Given the description of an element on the screen output the (x, y) to click on. 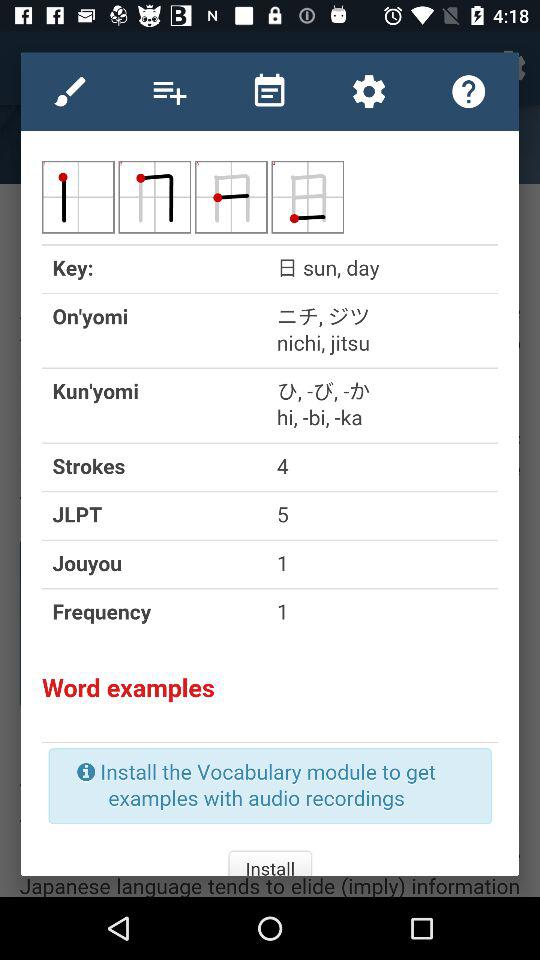
go to help (468, 91)
